Given the description of an element on the screen output the (x, y) to click on. 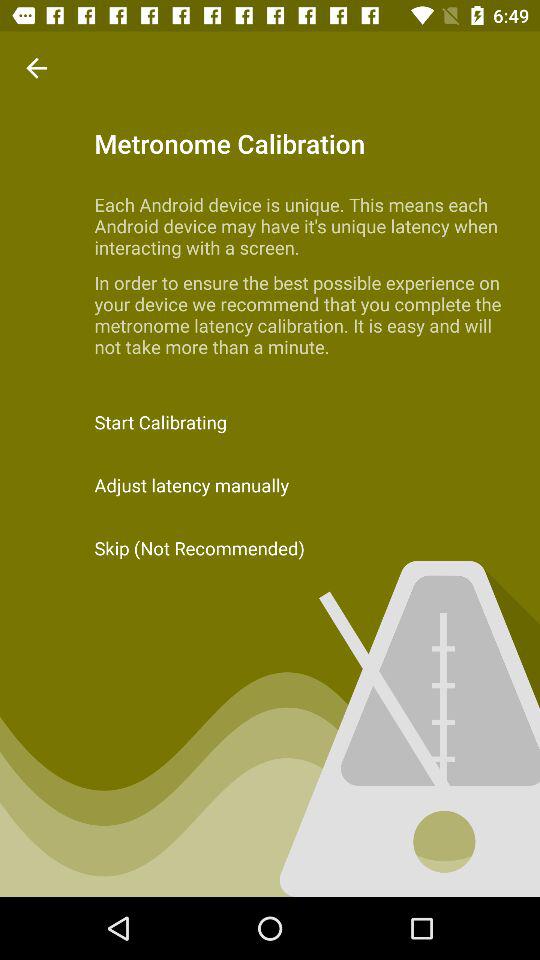
launch the item above the start calibrating (36, 68)
